Given the description of an element on the screen output the (x, y) to click on. 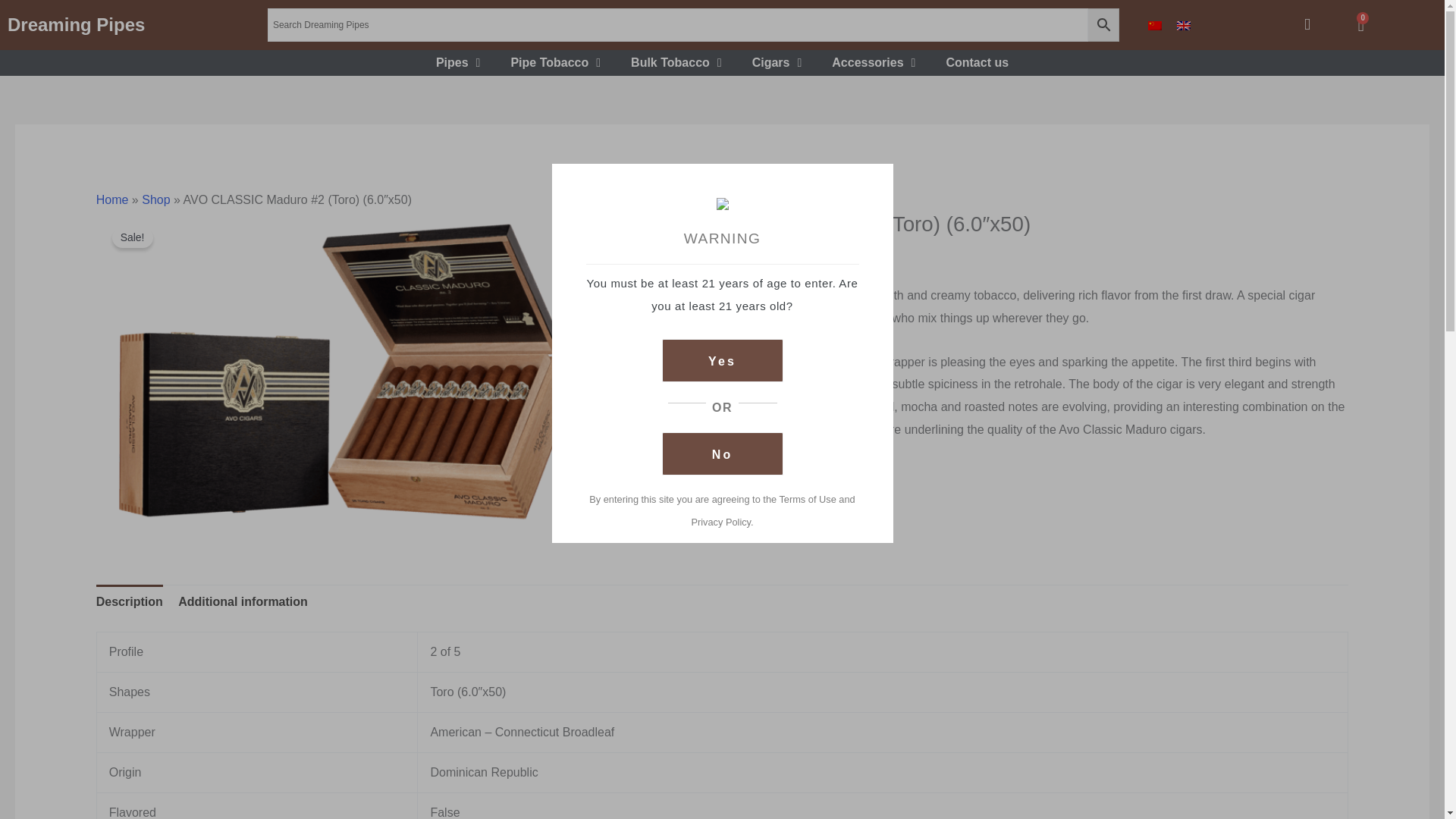
1 (685, 509)
Pipes (458, 62)
Dreaming Pipes (75, 24)
Avo Classic Maduro No. 2 (1361, 25)
